Given the description of an element on the screen output the (x, y) to click on. 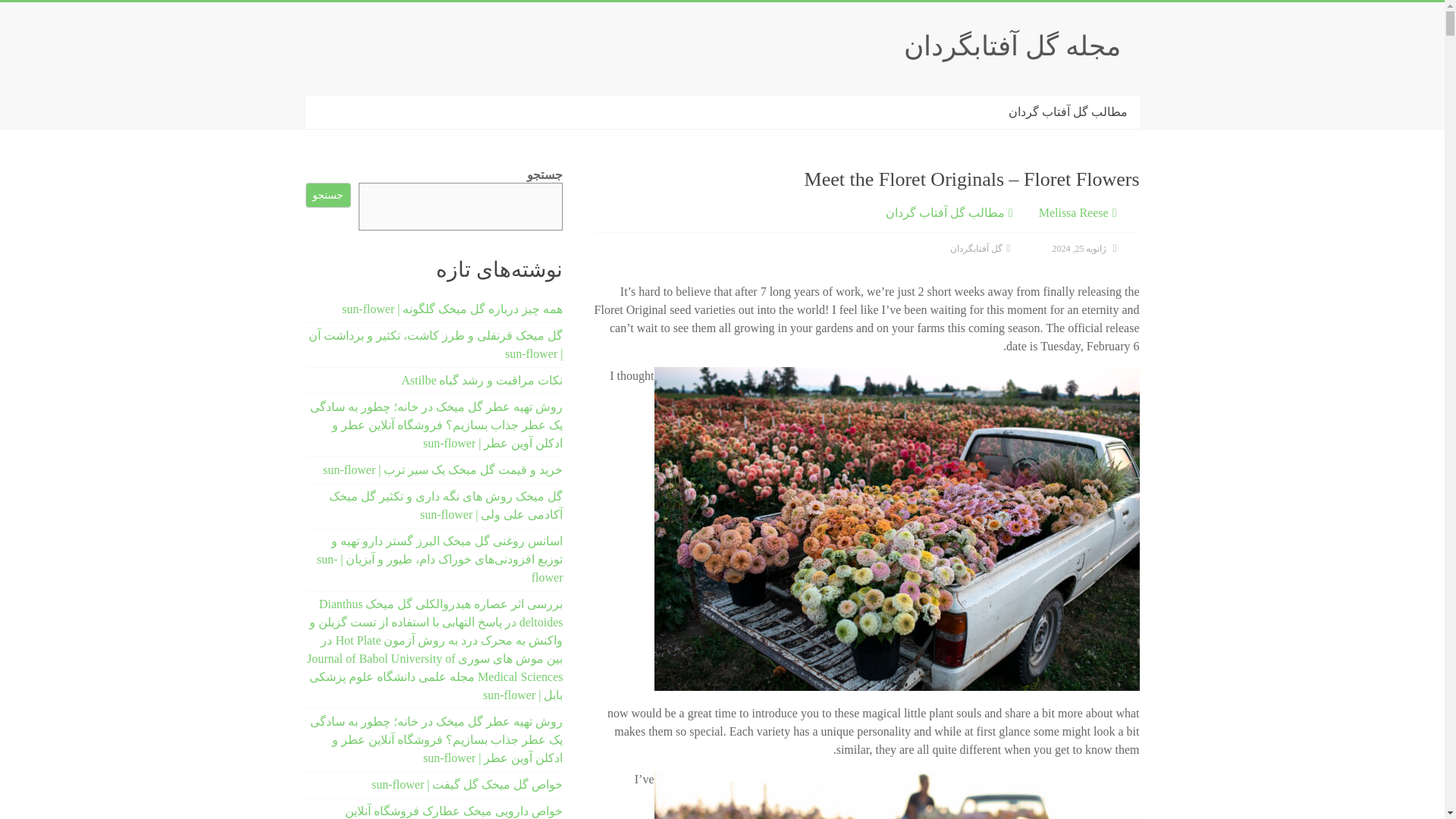
Melissa Reese (1073, 212)
Melissa Reese (1073, 212)
